Given the description of an element on the screen output the (x, y) to click on. 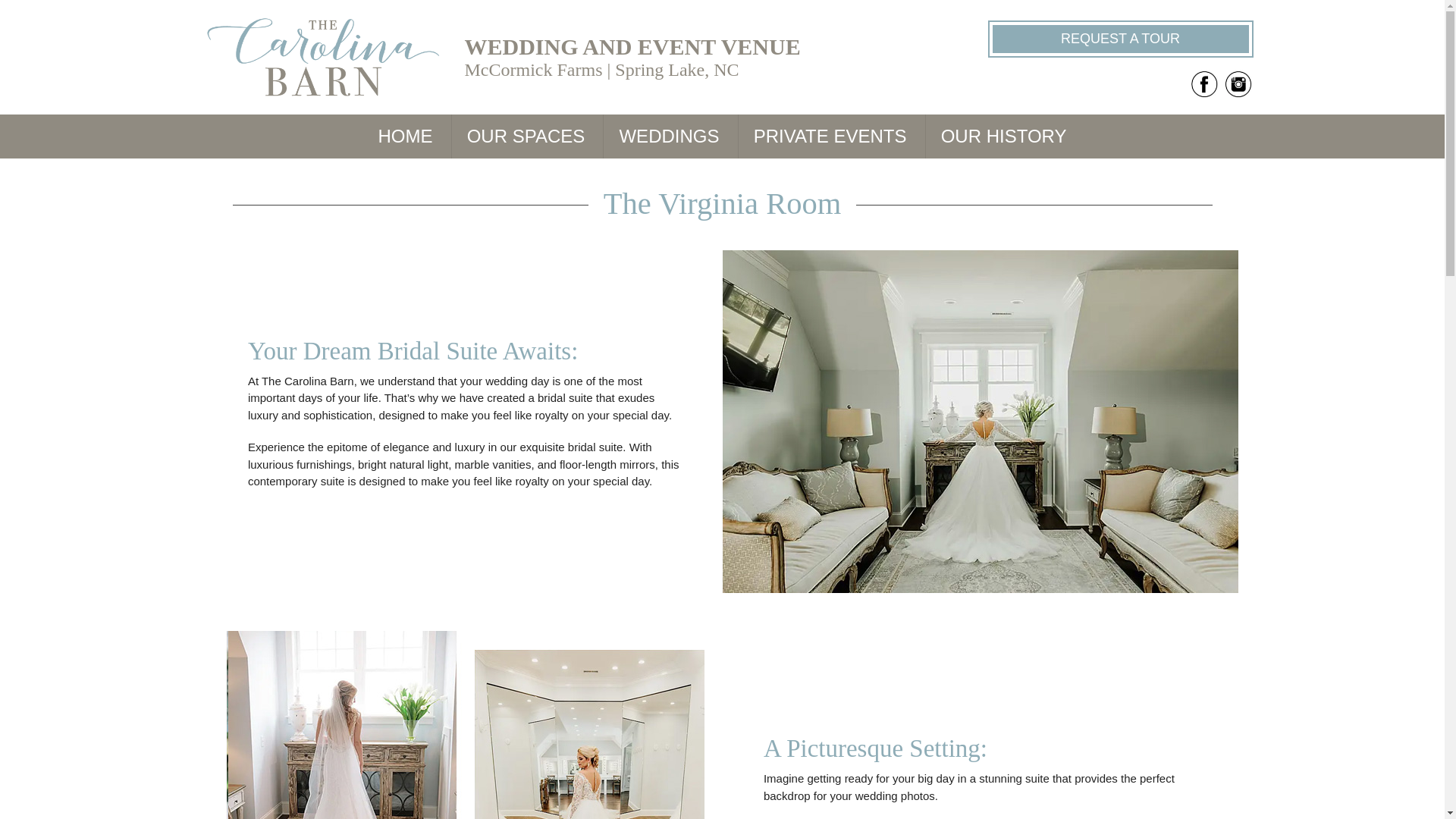
PRIVATE EVENTS (829, 136)
HOME (405, 136)
OUR HISTORY (1003, 136)
FB (1204, 83)
REQUEST A TOUR (1119, 39)
instagram (1237, 83)
WEDDINGS (668, 136)
OUR SPACES (525, 136)
